Given the description of an element on the screen output the (x, y) to click on. 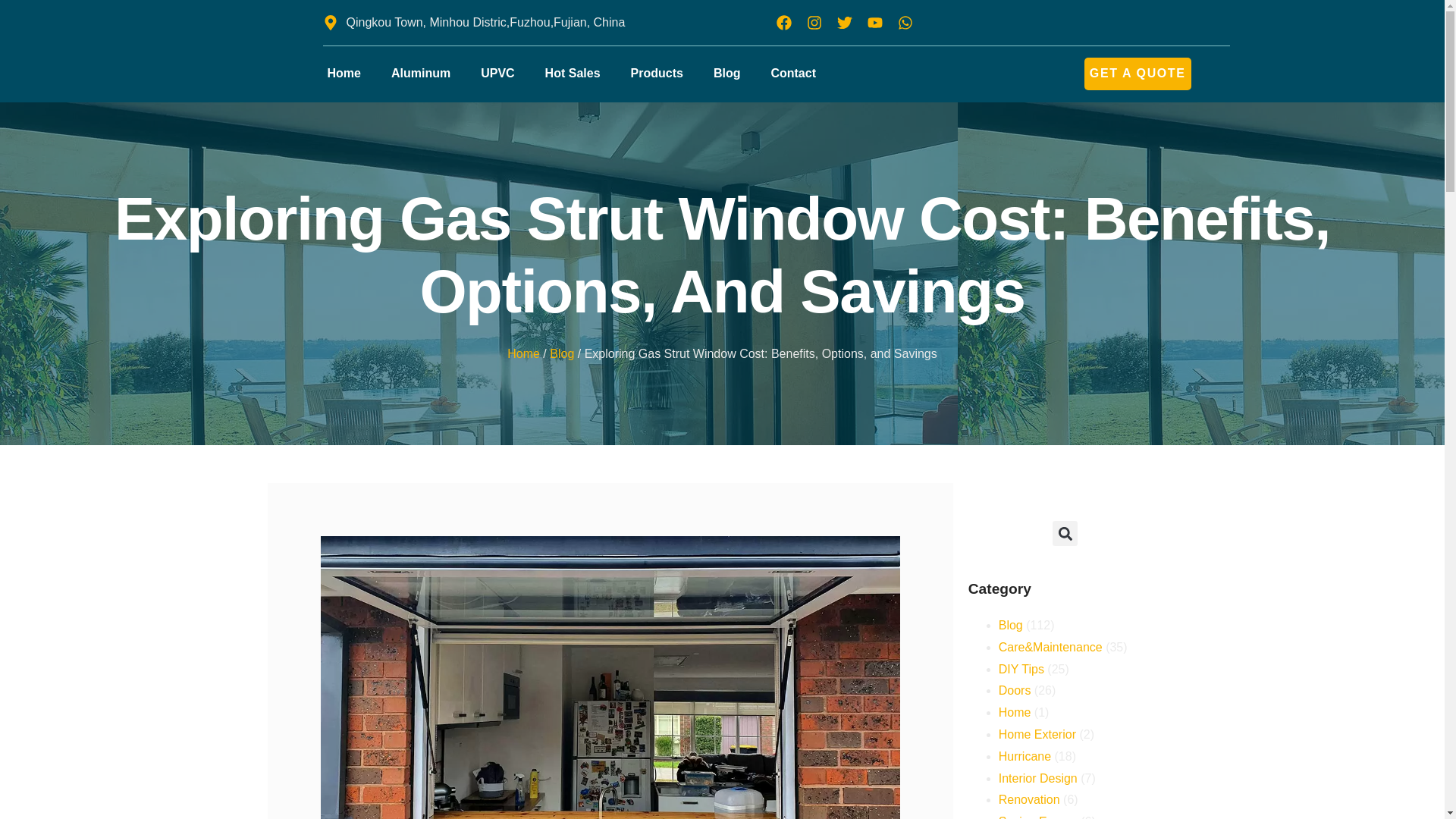
Hot Sales (572, 73)
Blog (727, 73)
UPVC (497, 73)
Home (343, 73)
Products (657, 73)
Contact (793, 73)
Aluminum (420, 73)
